Given the description of an element on the screen output the (x, y) to click on. 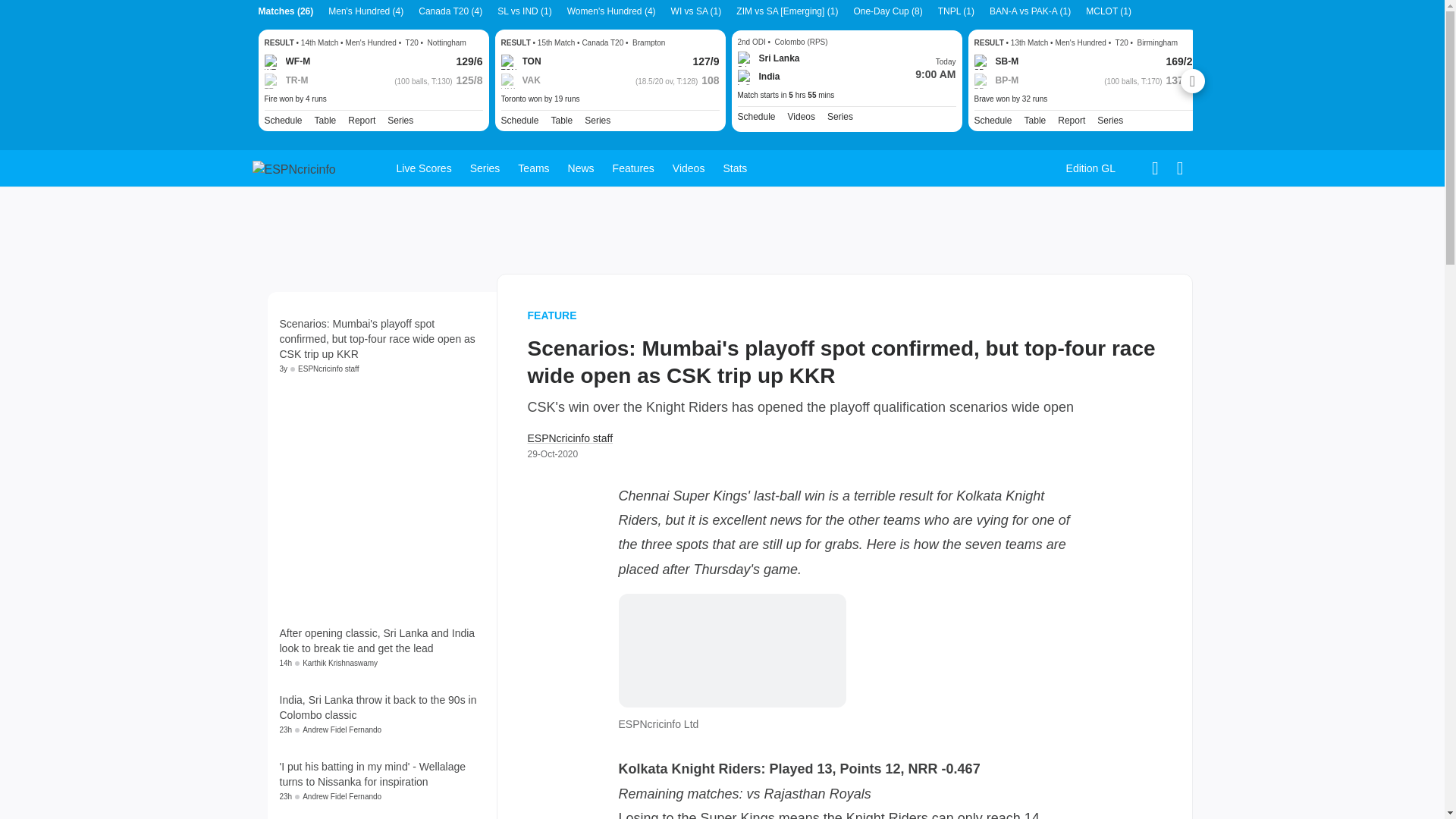
WF-M (286, 61)
Table (325, 120)
Series (400, 120)
Schedule (519, 120)
Table (325, 120)
SB-M (995, 61)
India (757, 77)
Series (597, 120)
TR-M (285, 79)
Schedule (282, 120)
